Given the description of an element on the screen output the (x, y) to click on. 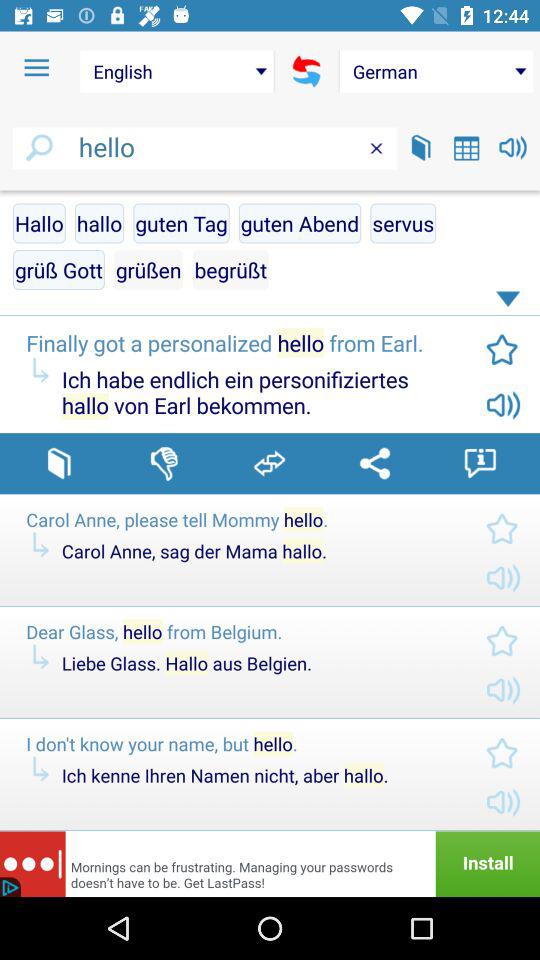
directory tool (58, 463)
